Given the description of an element on the screen output the (x, y) to click on. 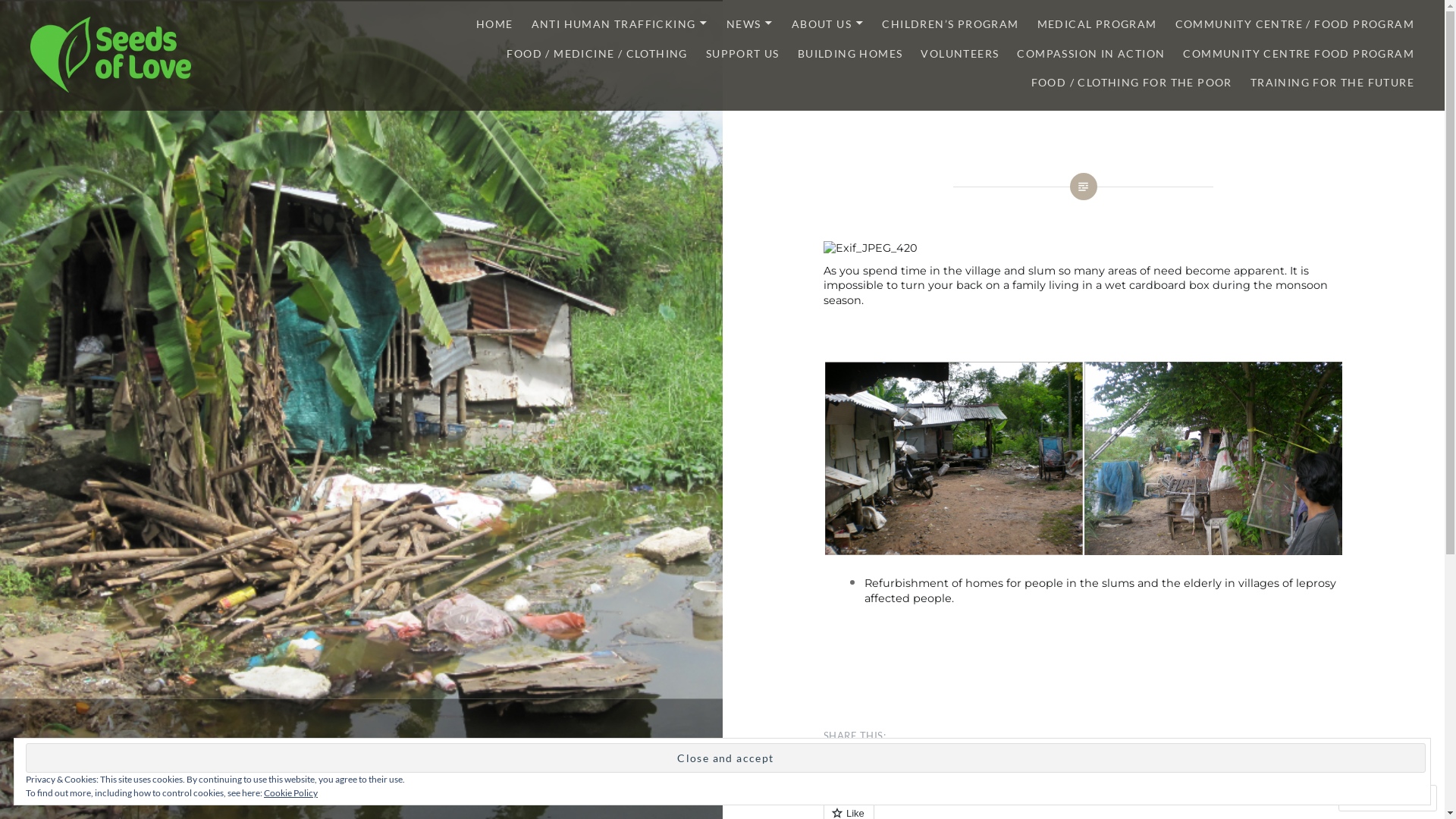
Close and accept Element type: text (725, 757)
MEDICAL PROGRAM Element type: text (1097, 24)
COMMUNITY CENTRE FOOD PROGRAM Element type: text (1298, 53)
COMPASSION IN ACTION Element type: text (1090, 53)
VOLUNTEERS Element type: text (959, 53)
Facebook Element type: text (929, 764)
Follow Element type: text (1372, 797)
Schermafbeelding 2018-08-27 om 10.55.04 Element type: hover (1213, 458)
NEWS Element type: text (749, 24)
Cookie Policy Element type: text (290, 792)
ANTI HUMAN TRAFFICKING Element type: text (619, 24)
SUPPORT US Element type: text (742, 53)
TRAINING FOR THE FUTURE Element type: text (1332, 82)
Twitter Element type: text (854, 764)
HOME Element type: text (494, 24)
FOOD / MEDICINE / CLOTHING Element type: text (596, 53)
COMMUNITY CENTRE / FOOD PROGRAM Element type: text (1294, 24)
BUILDING HOMES Element type: text (850, 53)
Seeds of Love Element type: text (61, 98)
FOOD / CLOTHING FOR THE POOR Element type: text (1131, 82)
ABOUT US Element type: text (827, 24)
Schermafbeelding 2018-08-27 om 10.52.15 Element type: hover (953, 458)
